Given the description of an element on the screen output the (x, y) to click on. 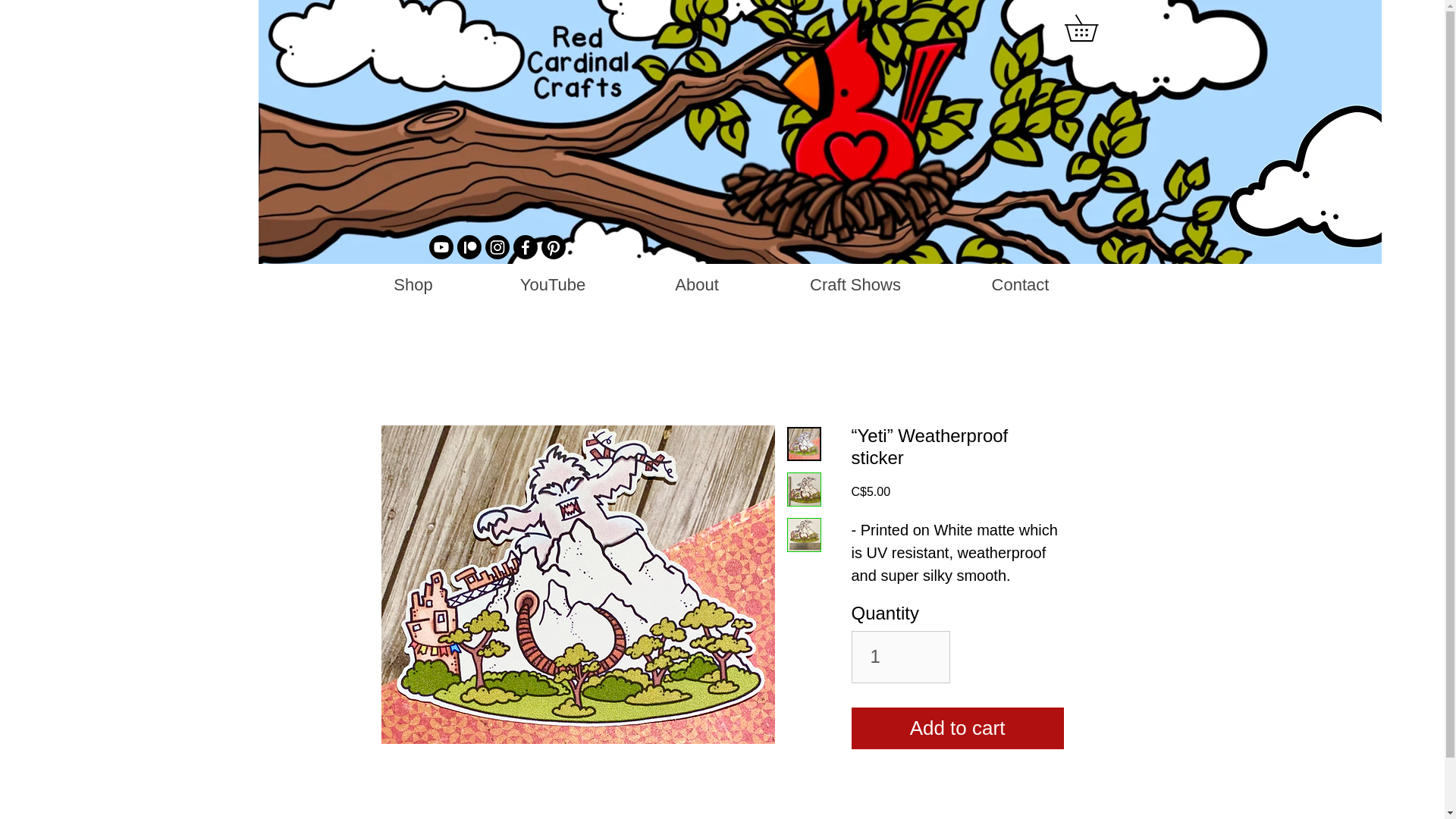
Shop (413, 284)
Contact (1020, 284)
Add to cart (956, 728)
1 (900, 656)
YouTube (552, 284)
Craft Shows (855, 284)
About (696, 284)
